Given the description of an element on the screen output the (x, y) to click on. 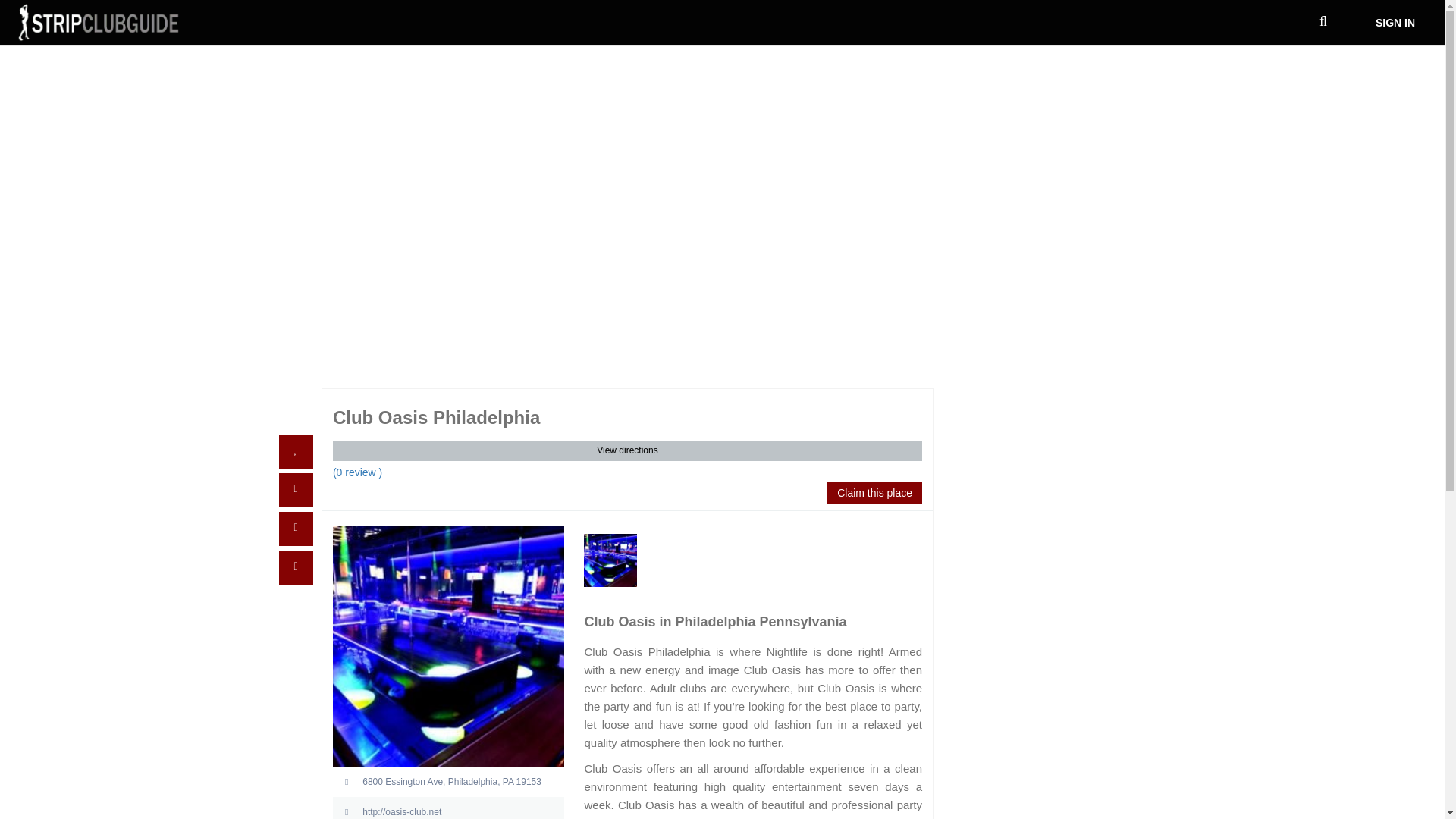
SIGN IN (1395, 22)
Claim this place (874, 492)
Add to favorite (296, 451)
Write a review (296, 528)
Report (296, 567)
Club Oasis Philadelphia (610, 560)
Website (448, 811)
View directions (627, 450)
